Given the description of an element on the screen output the (x, y) to click on. 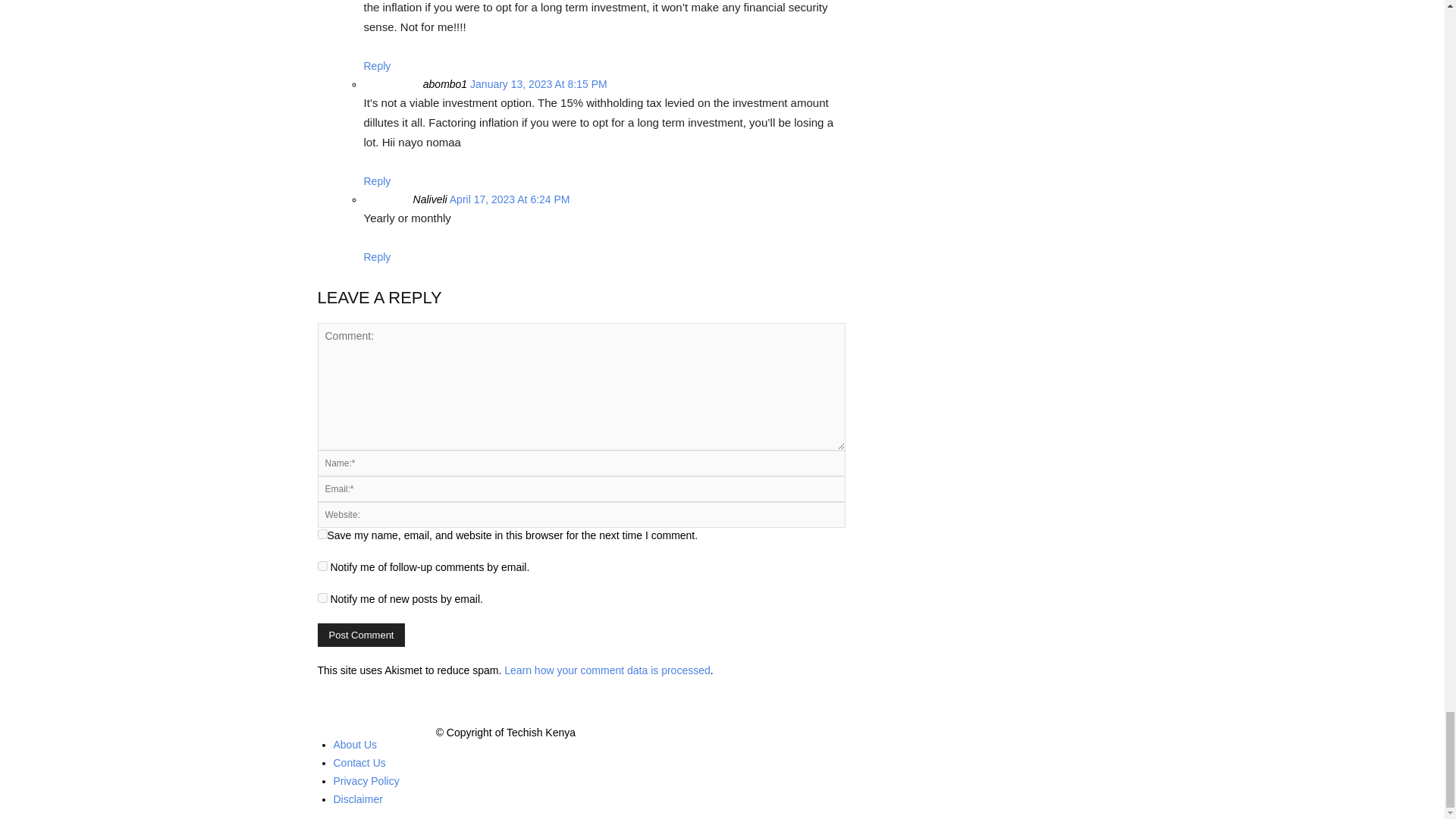
subscribe (321, 597)
Post Comment (360, 635)
subscribe (321, 565)
yes (321, 533)
